Given the description of an element on the screen output the (x, y) to click on. 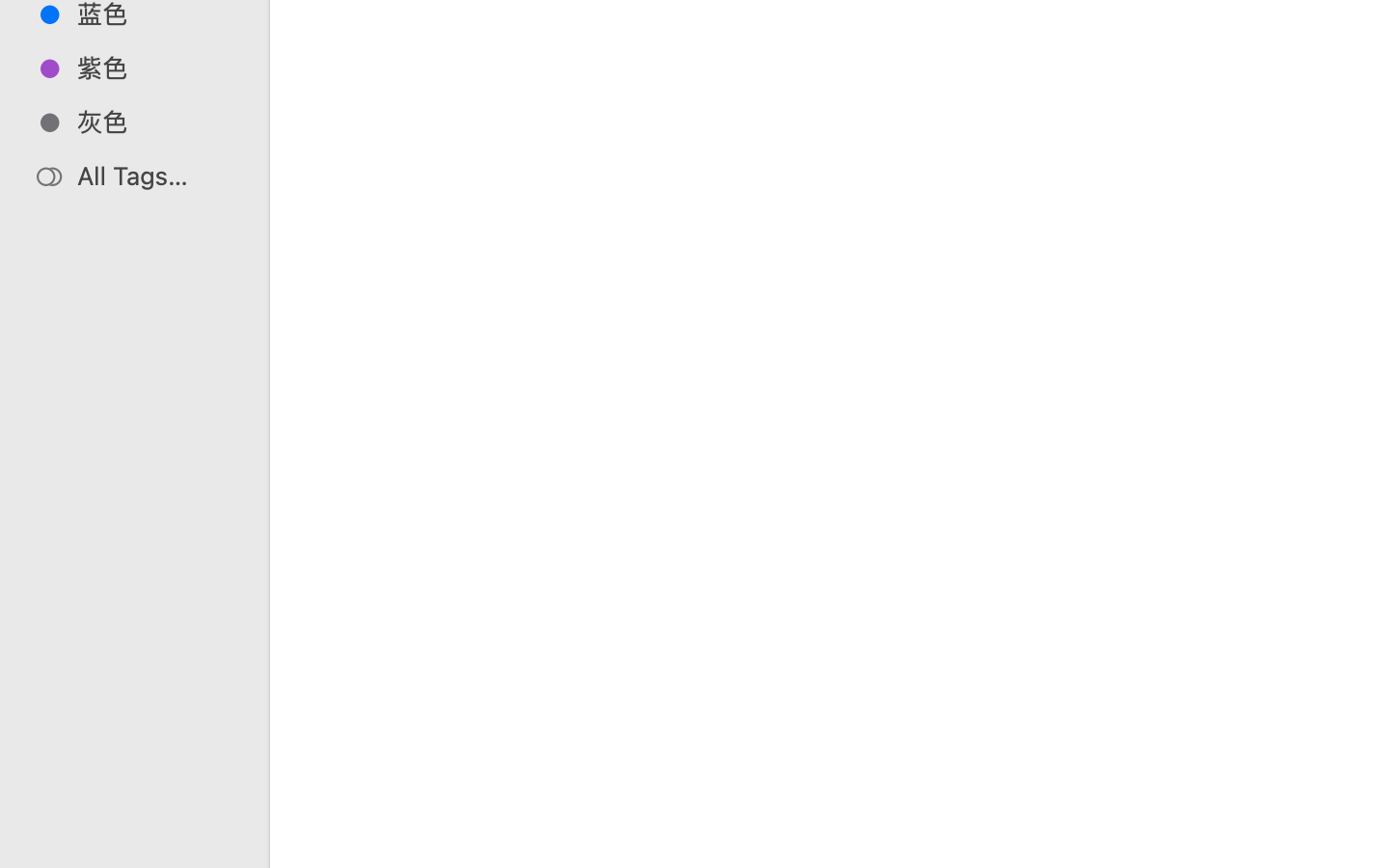
灰色 Element type: AXStaticText (155, 121)
